Given the description of an element on the screen output the (x, y) to click on. 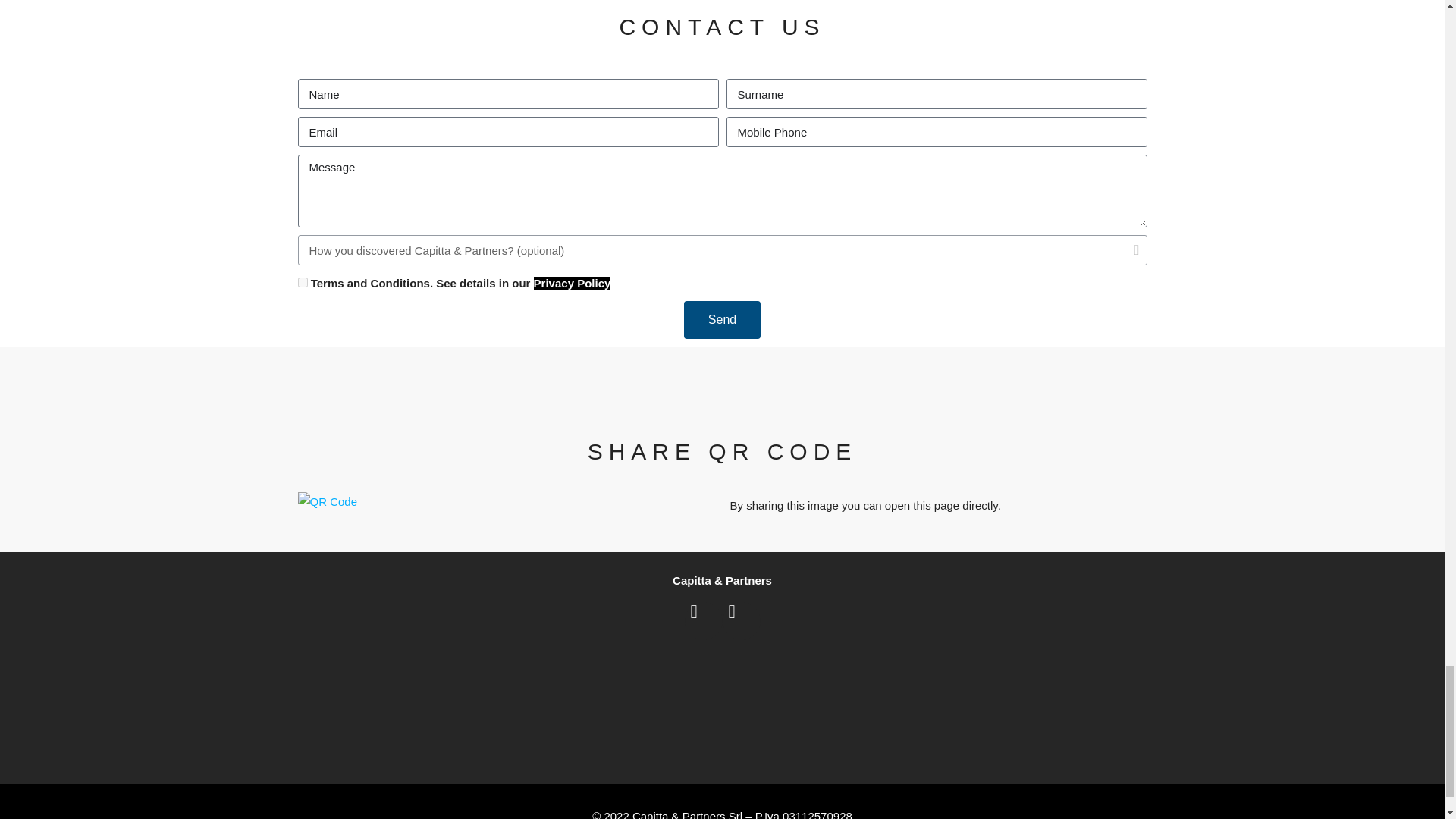
on (302, 282)
Privacy Policy (572, 282)
